Given the description of an element on the screen output the (x, y) to click on. 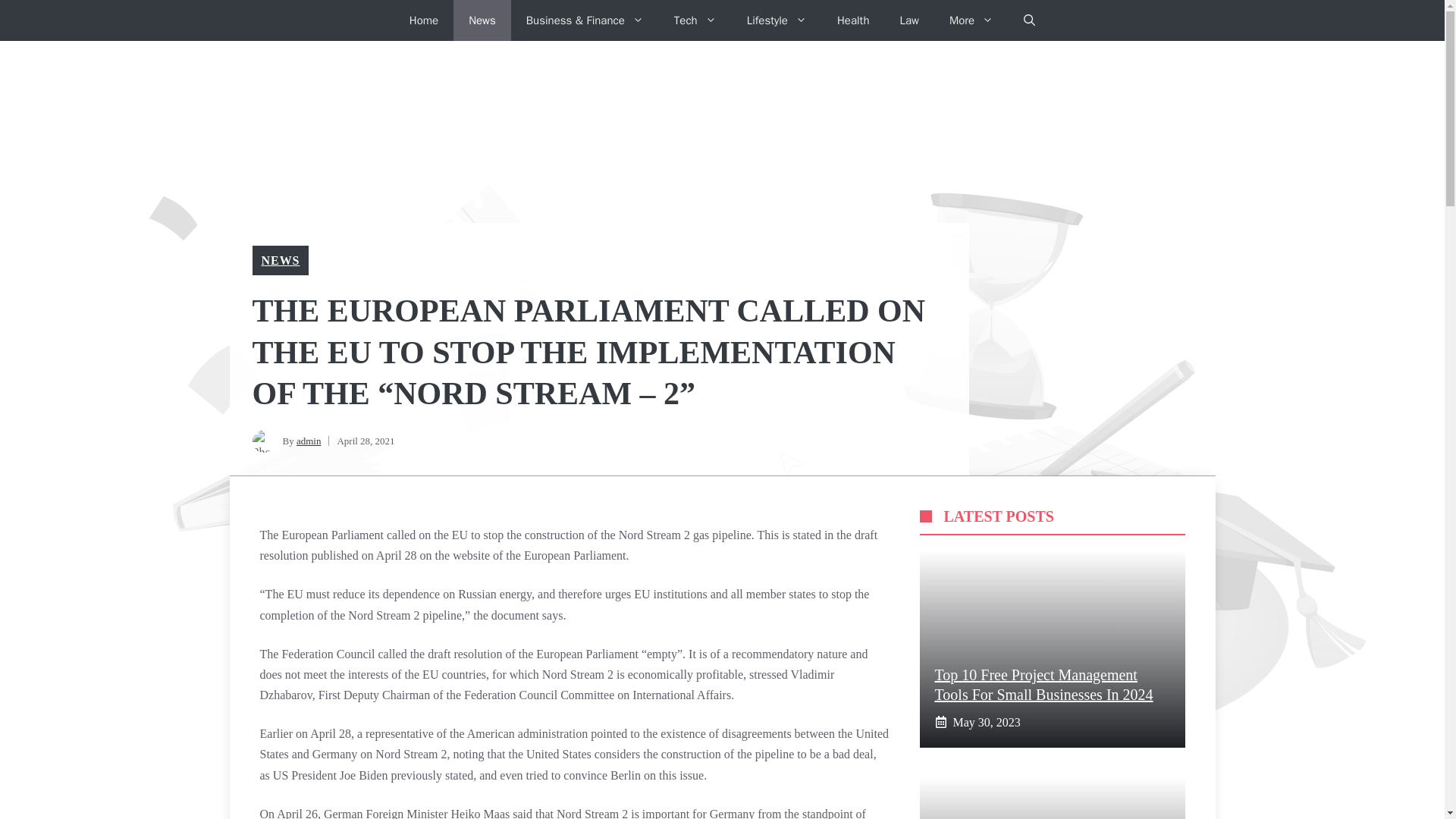
News (481, 20)
Home (423, 20)
Tech (695, 20)
Lifestyle (777, 20)
